Given the description of an element on the screen output the (x, y) to click on. 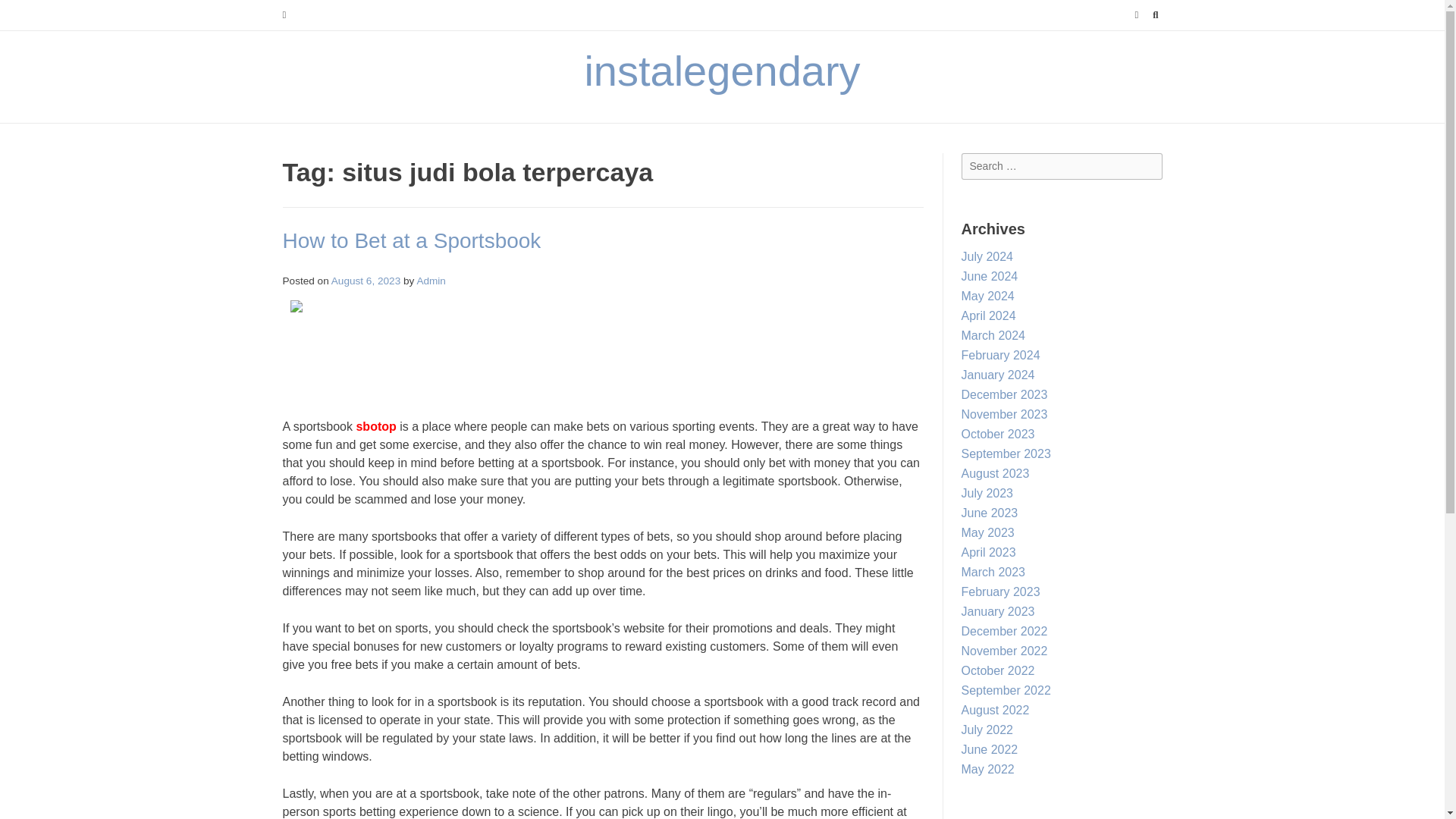
Search (27, 13)
May 2024 (987, 295)
August 2023 (994, 472)
April 2024 (988, 315)
March 2024 (993, 335)
July 2024 (986, 256)
September 2023 (1005, 453)
How to Bet at a Sportsbook (411, 240)
October 2023 (997, 433)
January 2024 (997, 374)
August 6, 2023 (365, 280)
Admin (430, 280)
sbotop (375, 426)
instalegendary (721, 70)
November 2023 (1004, 413)
